Given the description of an element on the screen output the (x, y) to click on. 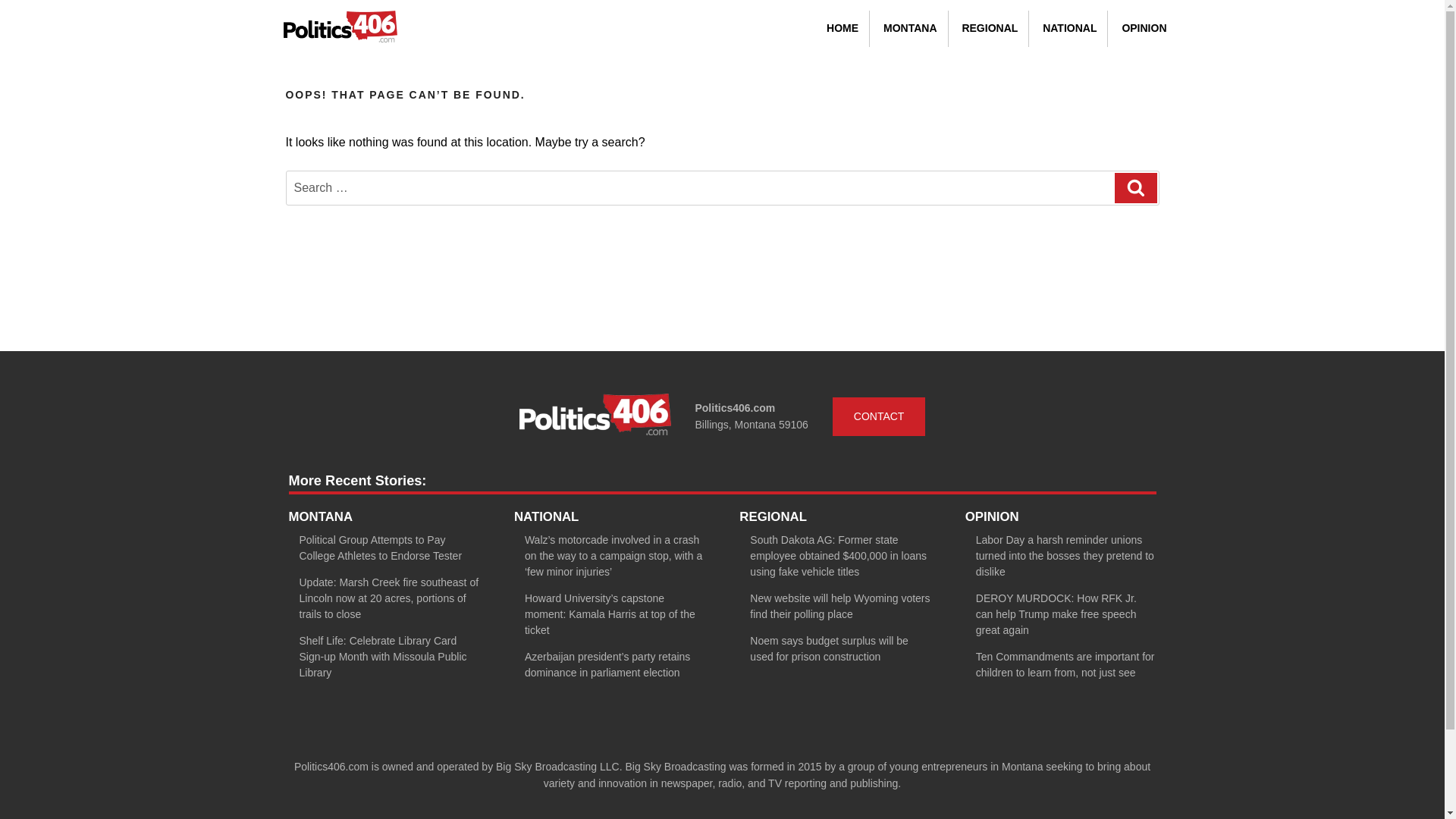
HOME (842, 28)
OPINION (1143, 28)
Home Page (340, 28)
